Given the description of an element on the screen output the (x, y) to click on. 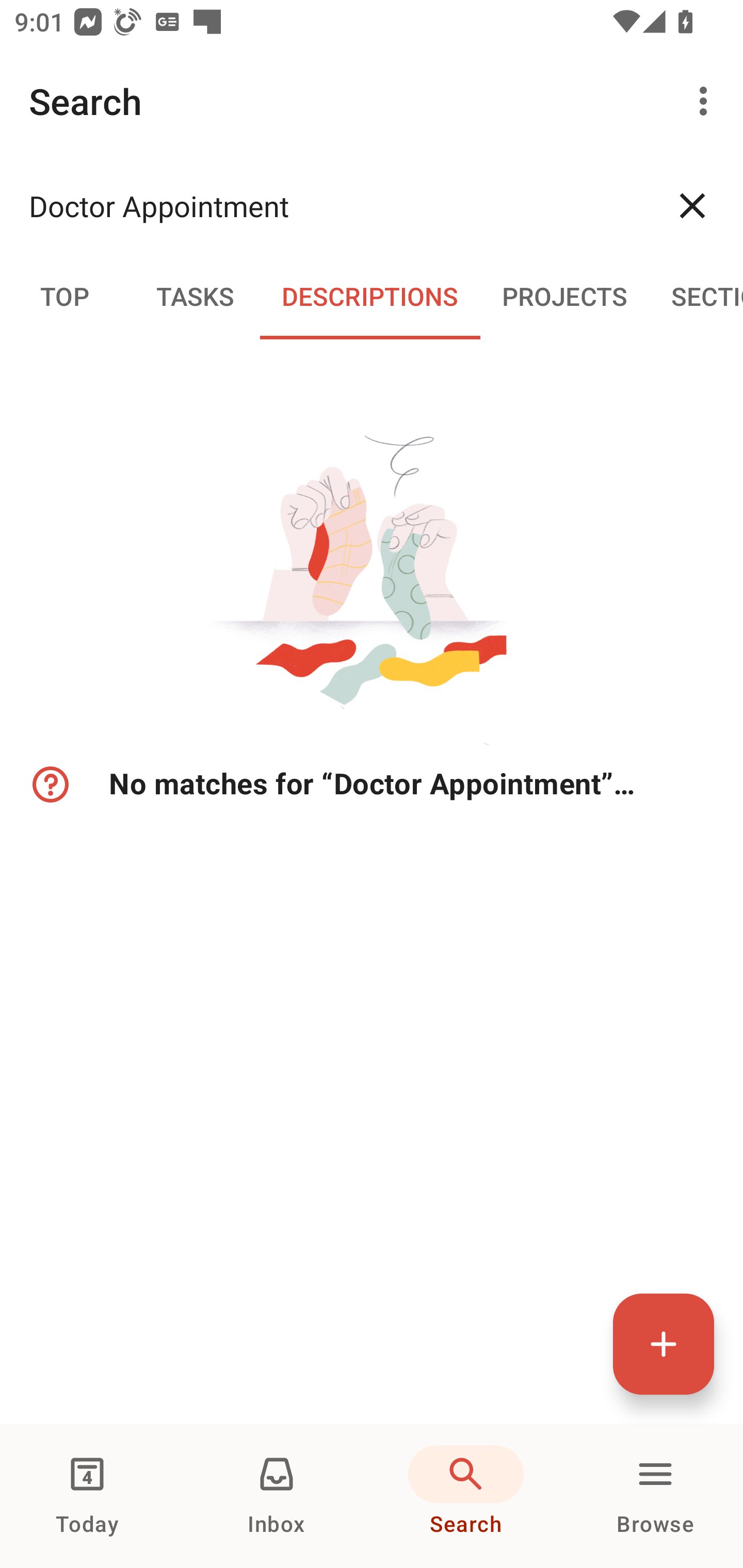
Search More options (371, 100)
More options (706, 101)
Doctor Appointment (335, 205)
Clear (692, 205)
Top TOP (65, 295)
Tasks TASKS (195, 295)
Projects PROJECTS (564, 295)
Learn how to refine your search (48, 784)
Quick add (663, 1343)
Today (87, 1495)
Inbox (276, 1495)
Browse (655, 1495)
